Given the description of an element on the screen output the (x, y) to click on. 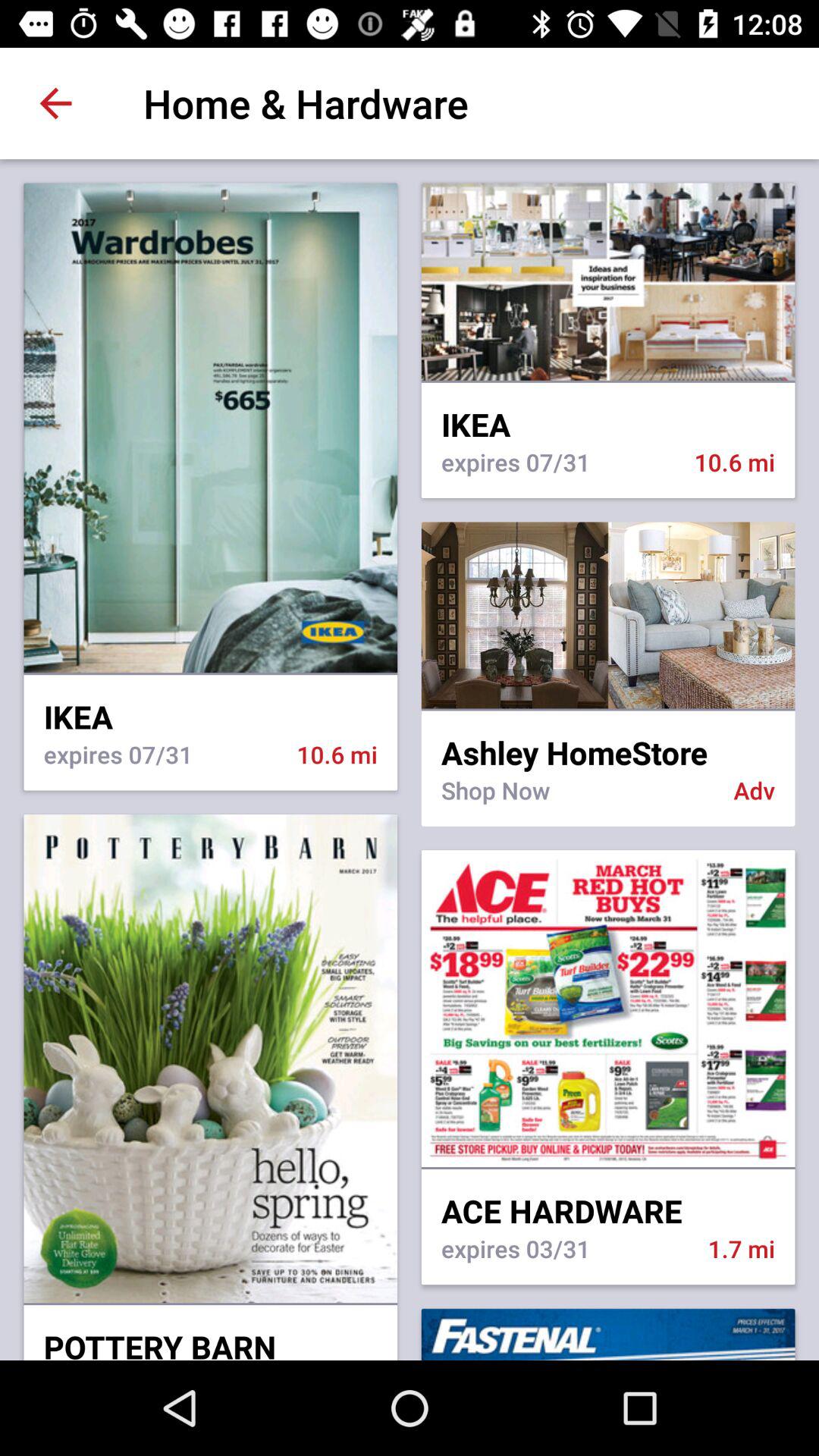
swipe to shop now icon (577, 800)
